Given the description of an element on the screen output the (x, y) to click on. 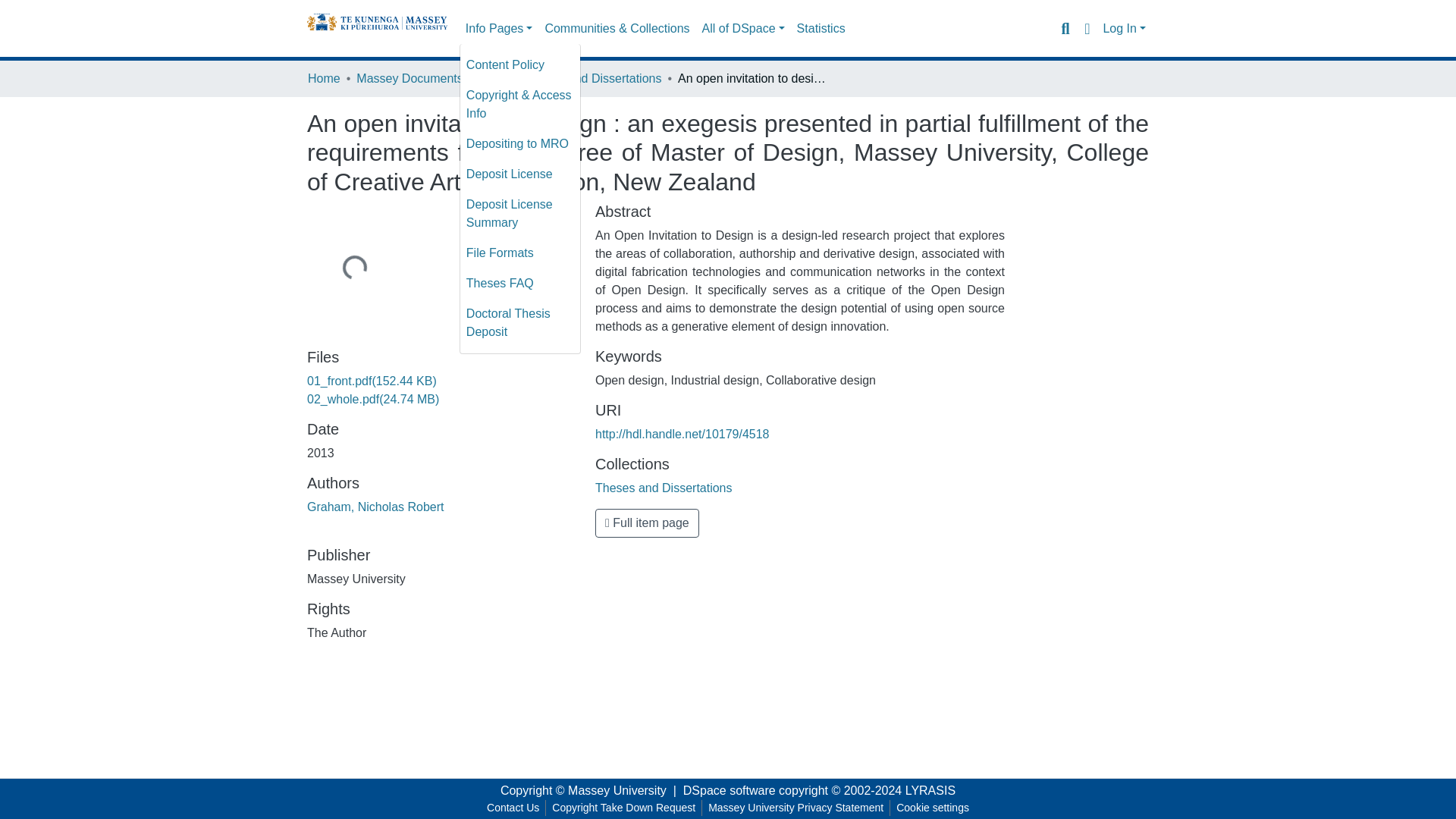
Full item page (646, 522)
Massey Documents by Type (432, 78)
Doctoral Thesis Deposit (519, 322)
Language switch (1086, 28)
DSpace software (729, 789)
Graham, Nicholas Robert (375, 506)
Content Policy (519, 64)
Home (323, 78)
Statistics (820, 28)
Depositing to MRO (519, 143)
